Given the description of an element on the screen output the (x, y) to click on. 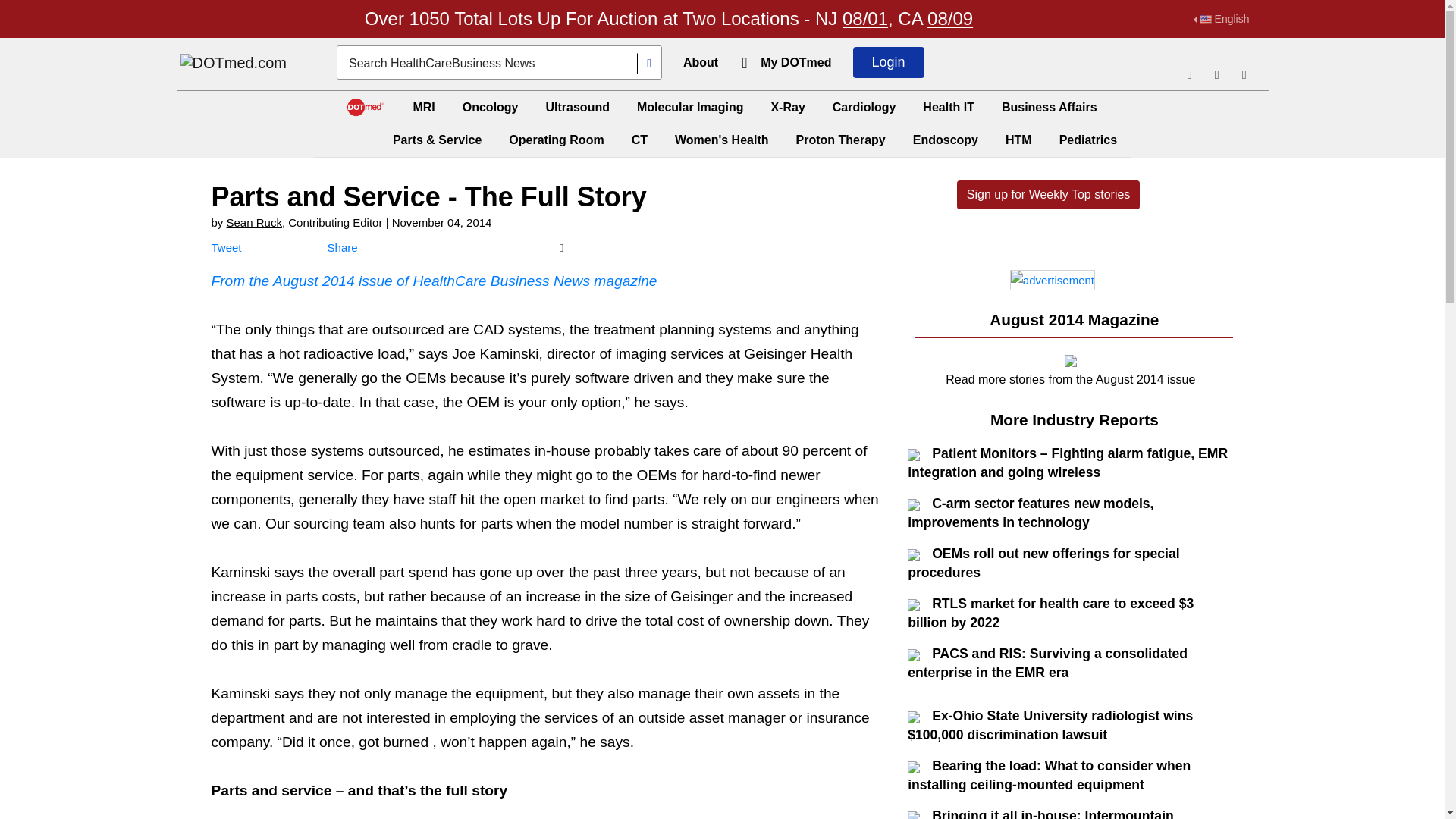
Login (888, 61)
Ultrasound (577, 106)
Operating Room (556, 139)
Oncology (490, 106)
More news from Sean Ruck (254, 222)
DOTmed News (233, 63)
Health IT (948, 106)
My DOTmed (795, 61)
Cardiology (864, 106)
MRI (423, 106)
English (1220, 19)
Business Affairs (1049, 106)
X-Ray (787, 106)
Molecular Imaging (689, 106)
About (700, 61)
